Given the description of an element on the screen output the (x, y) to click on. 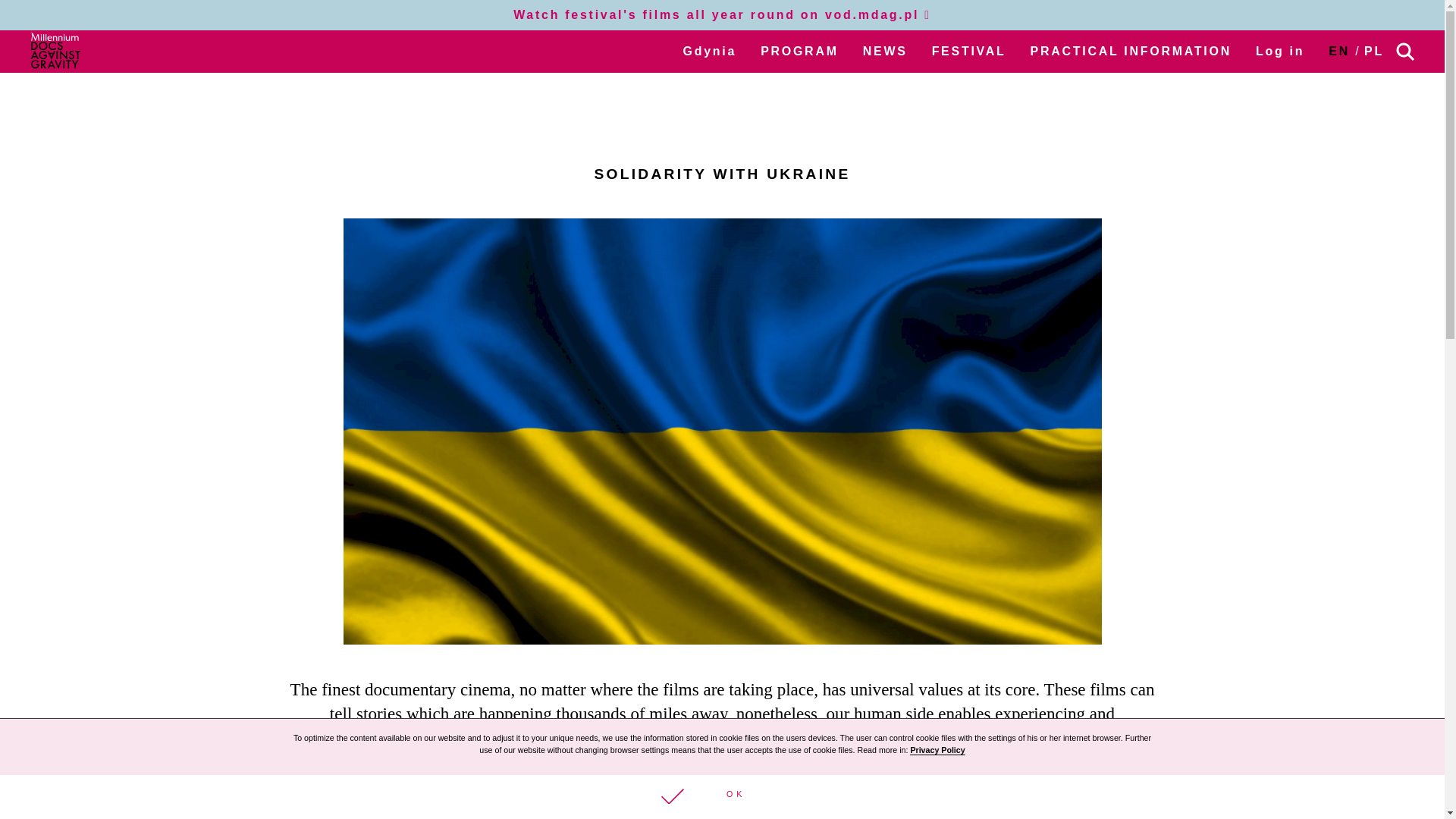
PROGRAM (799, 51)
Gdynia (709, 51)
PL (1374, 51)
NEWS (885, 51)
Log in (1279, 51)
Watch festival's films all year round on vod.mdag.pl (722, 14)
EN (1338, 51)
FESTIVAL (968, 51)
PRACTICAL INFORMATION (1130, 51)
